Given the description of an element on the screen output the (x, y) to click on. 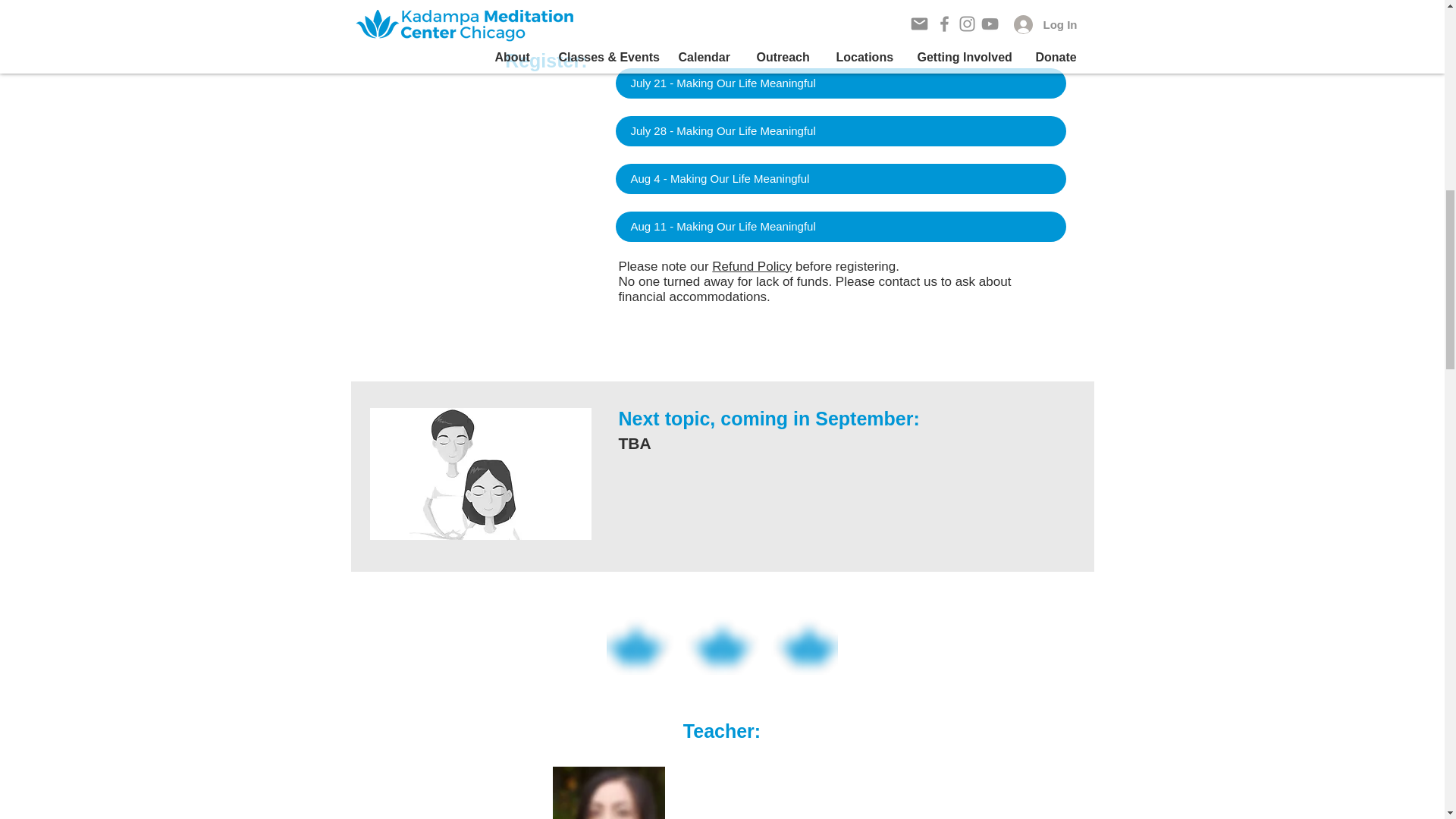
Refund Policy (751, 266)
July 21 - Making Our Life Meaningful (840, 82)
July 28 - Making Our Life Meaningful (840, 131)
Kadampa Teacher Elvita Kondili (607, 792)
TBA (480, 473)
Aug 4 - Making Our Life Meaningful (840, 178)
Aug 11 - Making Our Life Meaningful (840, 226)
